Given the description of an element on the screen output the (x, y) to click on. 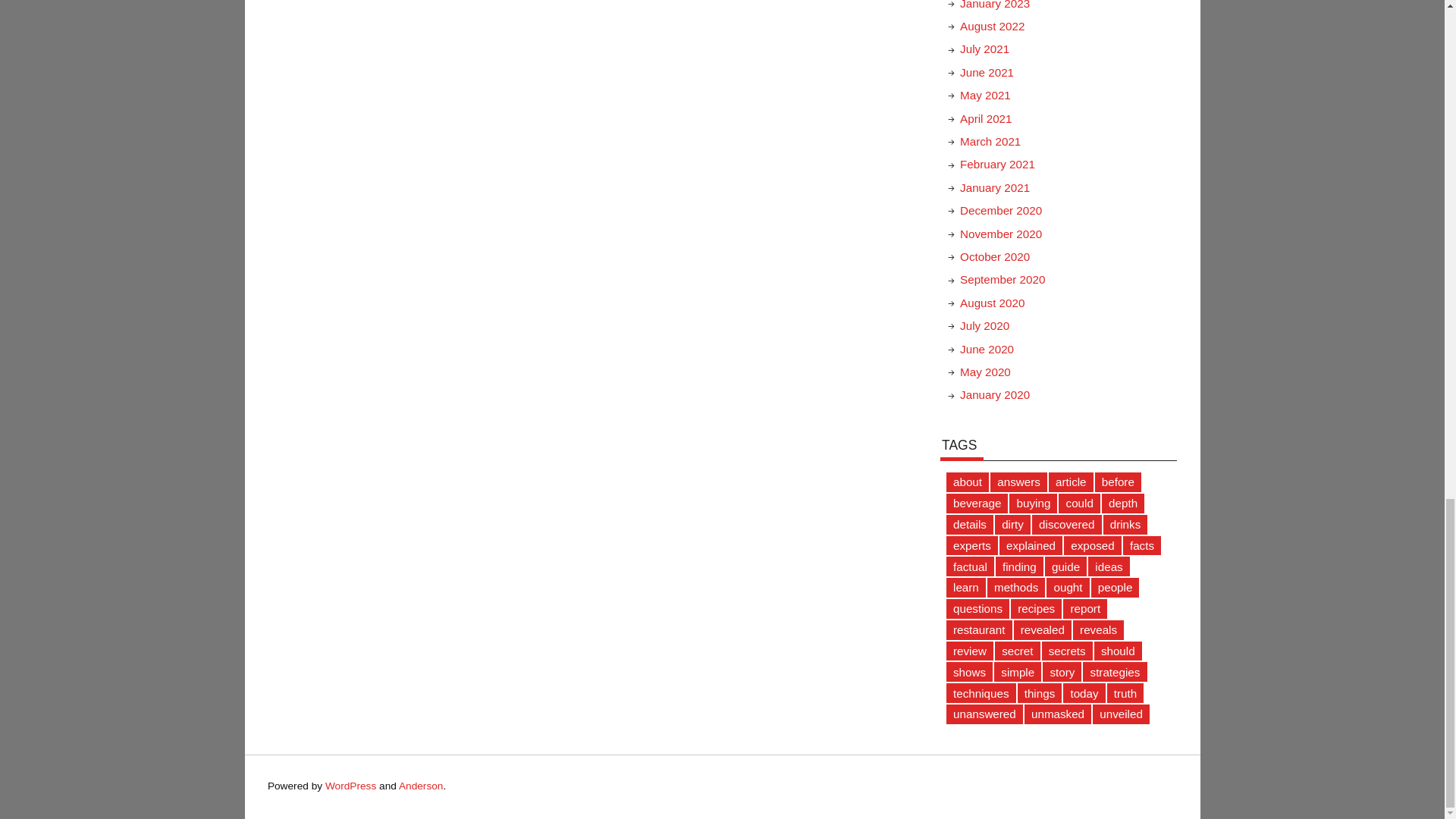
Anderson WordPress Theme (421, 785)
WordPress (349, 785)
